Given the description of an element on the screen output the (x, y) to click on. 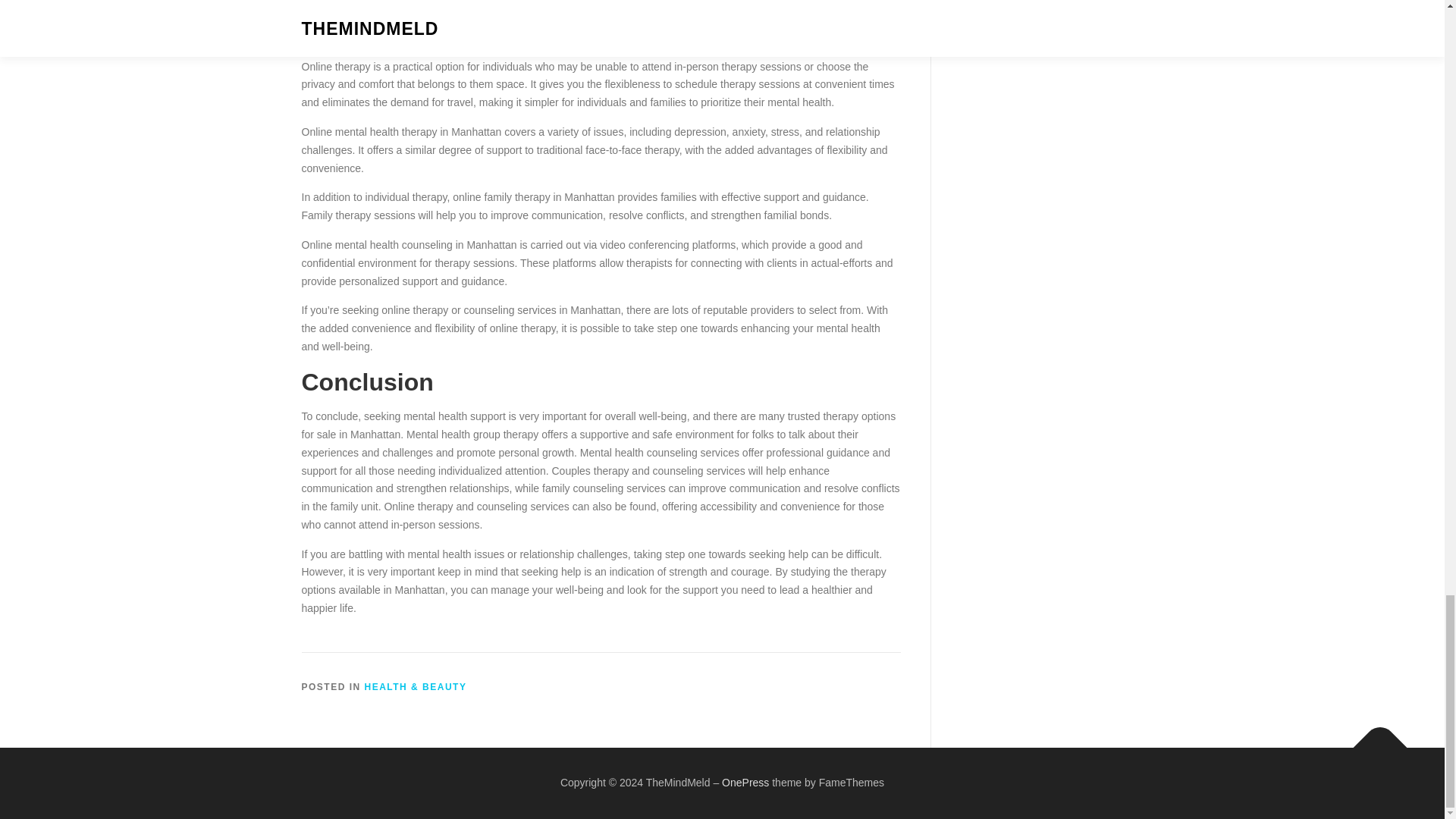
Back To Top (1372, 740)
